Given the description of an element on the screen output the (x, y) to click on. 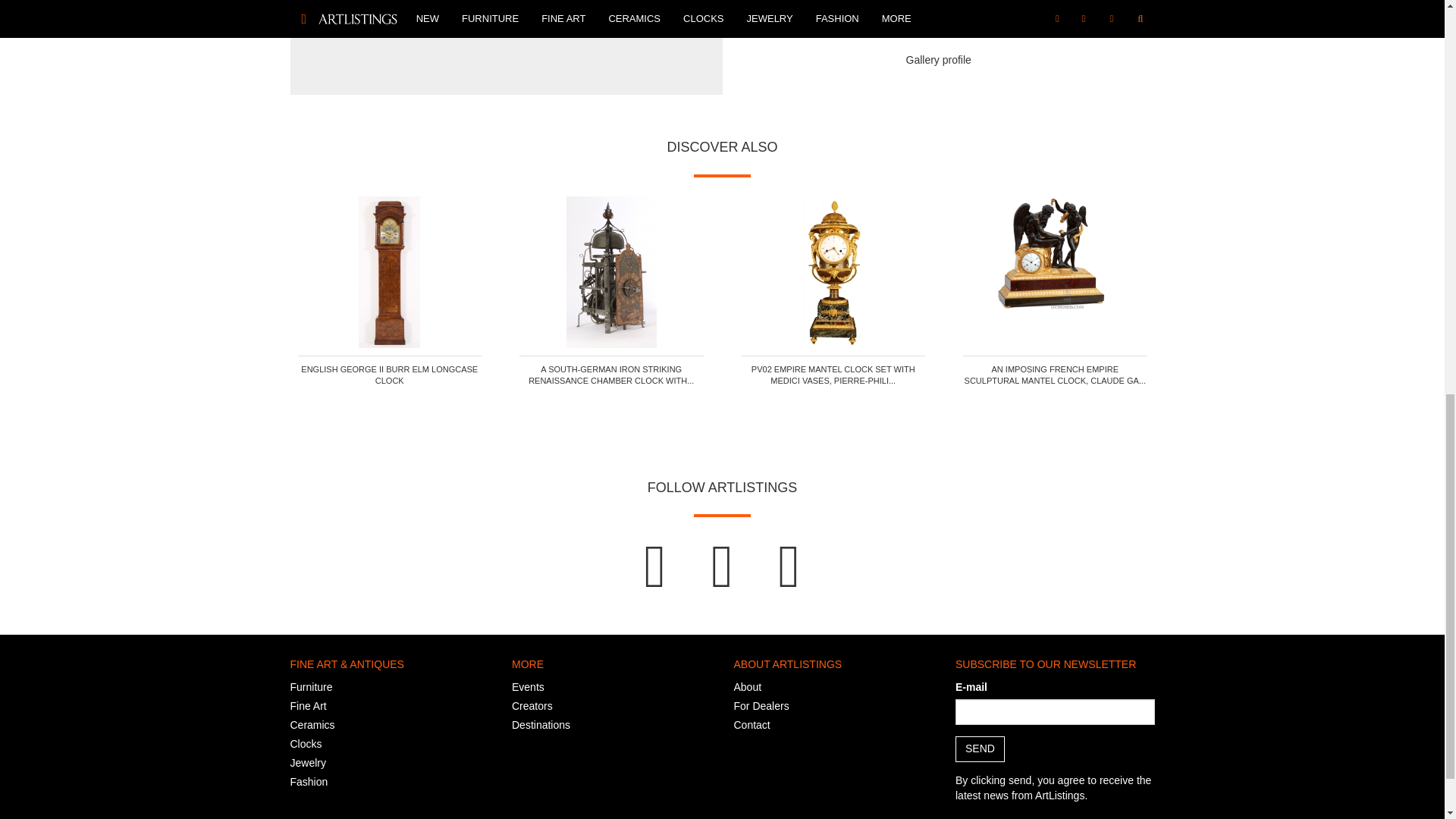
English George II Burr Elm Longcase Clock (389, 272)
English George II Burr Elm Longcase Clock (389, 374)
